Given the description of an element on the screen output the (x, y) to click on. 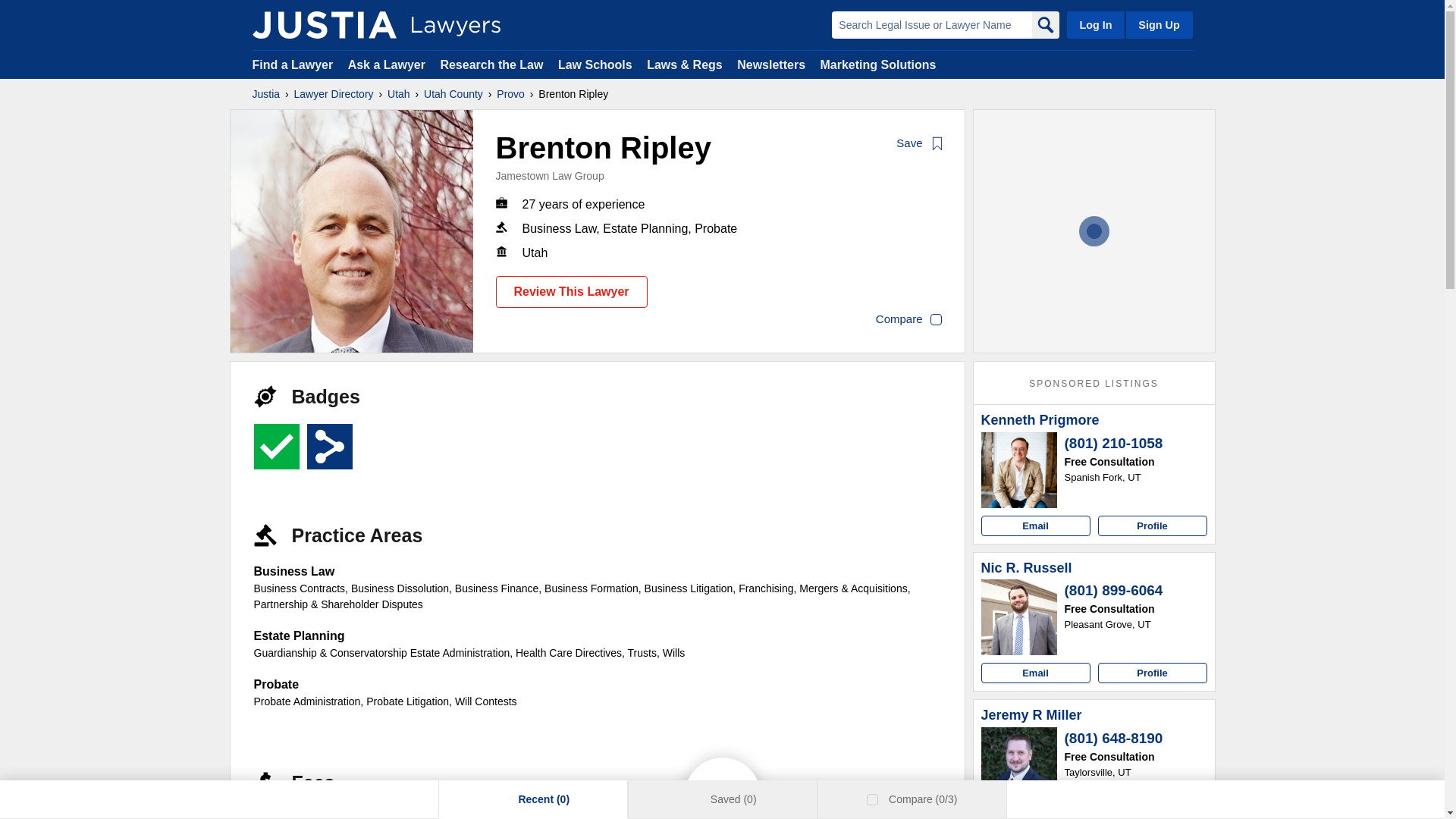
Review This Lawyer (571, 291)
Kenneth Prigmore (1040, 420)
Save (919, 143)
Marketing Solutions (877, 64)
Search (1044, 24)
Lawyer Directory (334, 93)
Nic R. Russell (1026, 568)
Brenton Ripley (351, 230)
Utah (398, 93)
Newsletters (770, 64)
Ask a Lawyer (388, 64)
Law Schools (594, 64)
Find a Lawyer (292, 64)
Log In (1094, 24)
Utah County (453, 93)
